Given the description of an element on the screen output the (x, y) to click on. 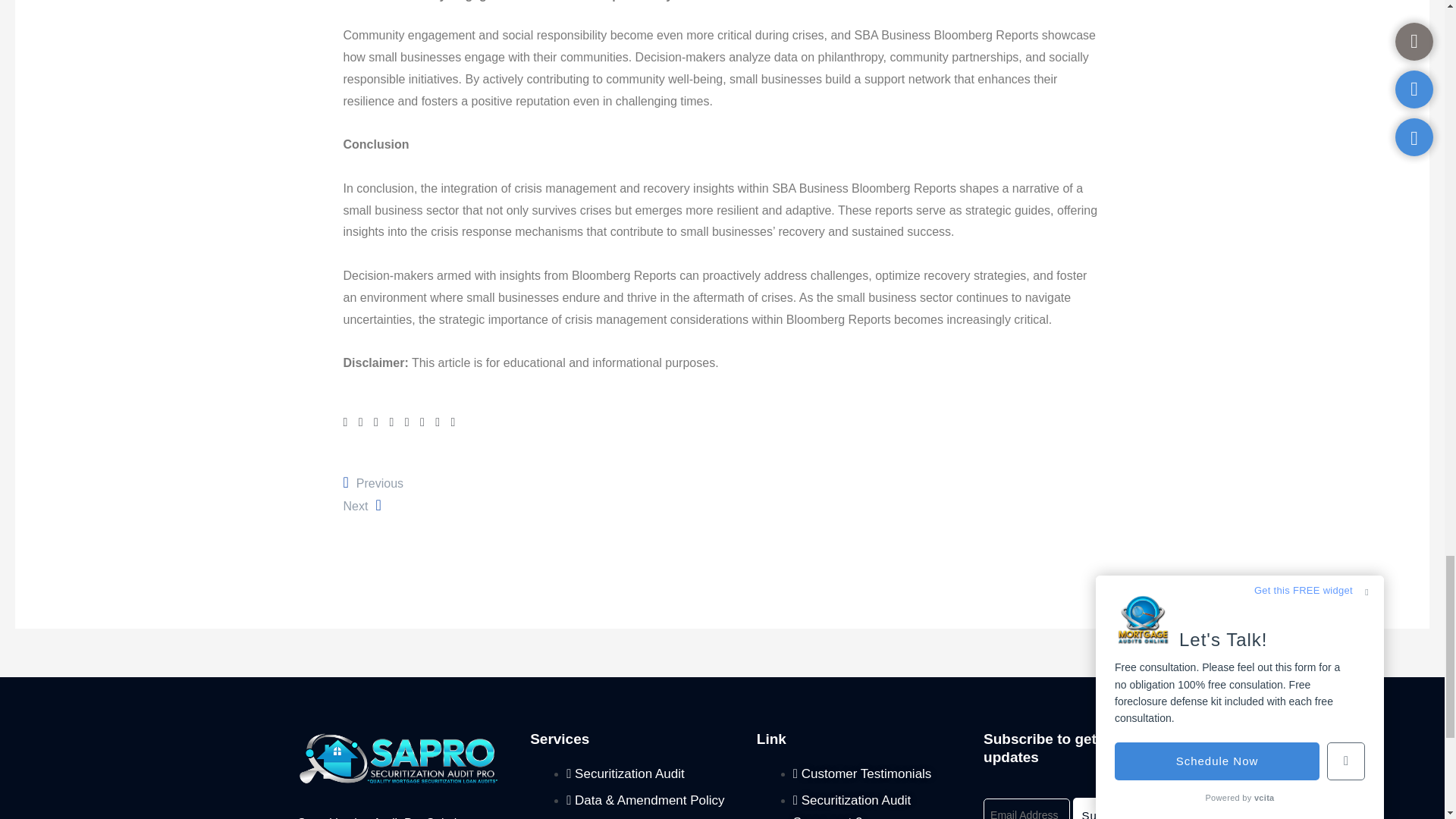
Subscribe (1110, 808)
Customer Testimonials (862, 773)
Subscribe (372, 482)
Securitization Audit Segement 2 (1110, 808)
Securitization Audit (852, 806)
